Given the description of an element on the screen output the (x, y) to click on. 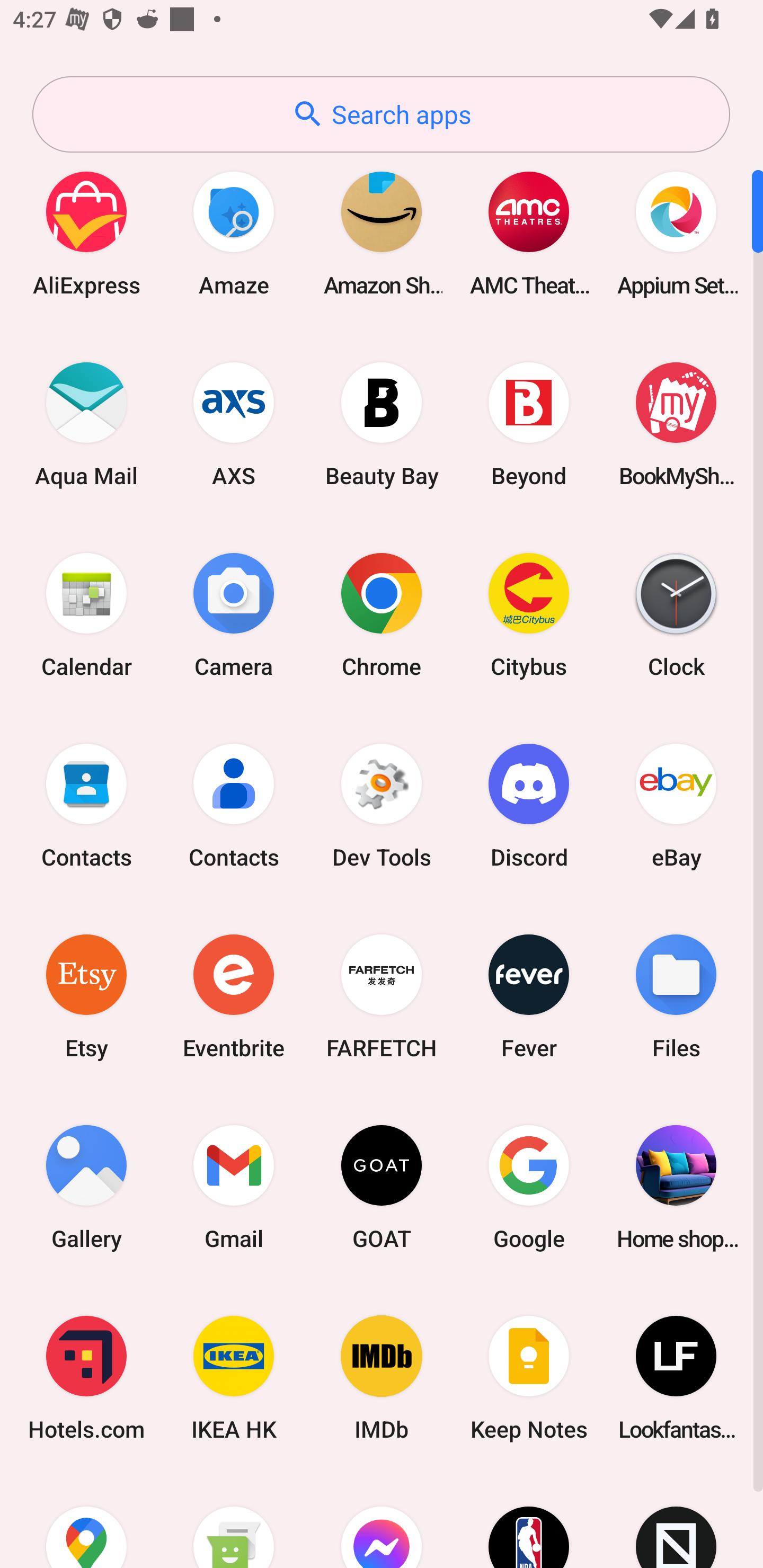
  Search apps (381, 114)
AliExpress (86, 233)
Amaze (233, 233)
Amazon Shopping (381, 233)
AMC Theatres (528, 233)
Appium Settings (676, 233)
Aqua Mail (86, 424)
AXS (233, 424)
Beauty Bay (381, 424)
Beyond (528, 424)
BookMyShow (676, 424)
Calendar (86, 614)
Camera (233, 614)
Chrome (381, 614)
Citybus (528, 614)
Clock (676, 614)
Contacts (86, 805)
Contacts (233, 805)
Dev Tools (381, 805)
Discord (528, 805)
eBay (676, 805)
Etsy (86, 996)
Eventbrite (233, 996)
FARFETCH (381, 996)
Fever (528, 996)
Files (676, 996)
Gallery (86, 1186)
Gmail (233, 1186)
GOAT (381, 1186)
Google (528, 1186)
Home shopping (676, 1186)
Hotels.com (86, 1377)
IKEA HK (233, 1377)
IMDb (381, 1377)
Keep Notes (528, 1377)
Lookfantastic (676, 1377)
